Given the description of an element on the screen output the (x, y) to click on. 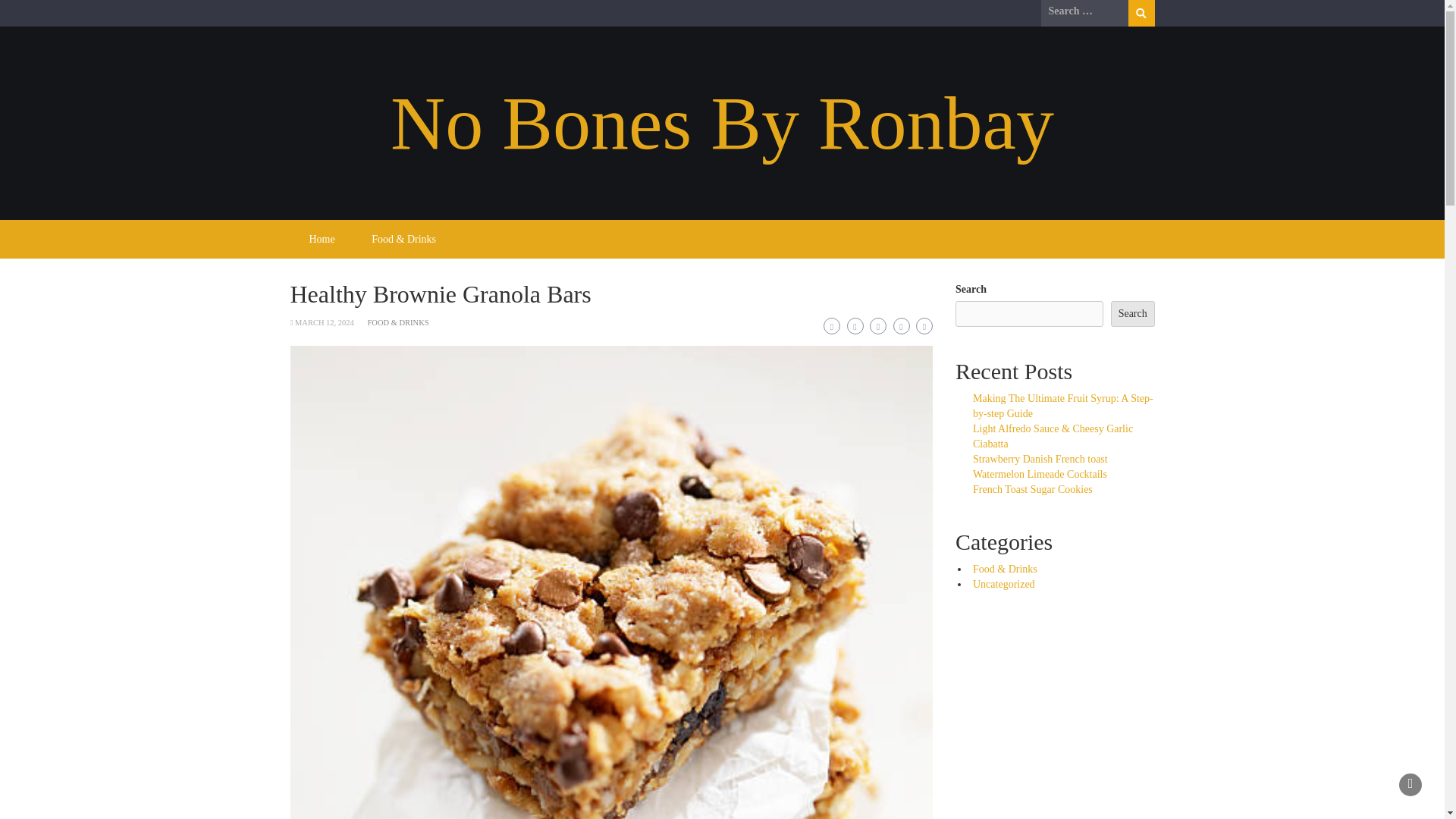
Search for: (1083, 11)
Search (1132, 313)
Uncategorized (1003, 583)
Search (1141, 13)
MARCH 12, 2024 (324, 322)
Strawberry Danish French toast (1040, 459)
French Toast Sugar Cookies (1032, 489)
Making The Ultimate Fruit Syrup: A Step-by-step Guide (1062, 406)
No Bones By Ronbay (722, 123)
Search (1141, 13)
Search (1141, 13)
Home (322, 239)
Watermelon Limeade Cocktails (1039, 473)
